Given the description of an element on the screen output the (x, y) to click on. 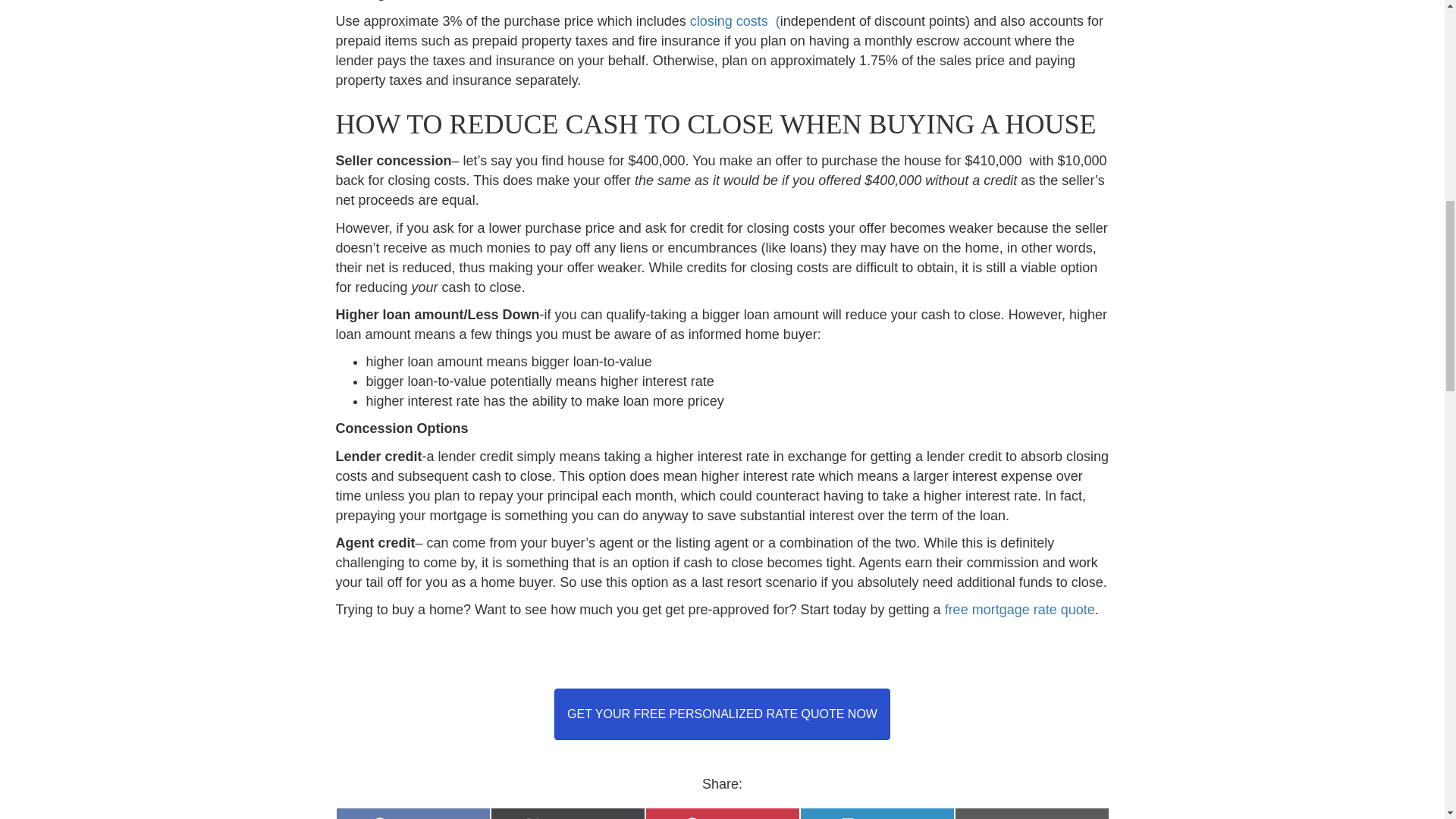
Get A Mortgage Rate Quote (1019, 609)
GET YOUR FREE PERSONALIZED RATE QUOTE NOW (721, 714)
Tips To Financing Closing Costs (411, 813)
free mortgage rate quote (1030, 813)
